Given the description of an element on the screen output the (x, y) to click on. 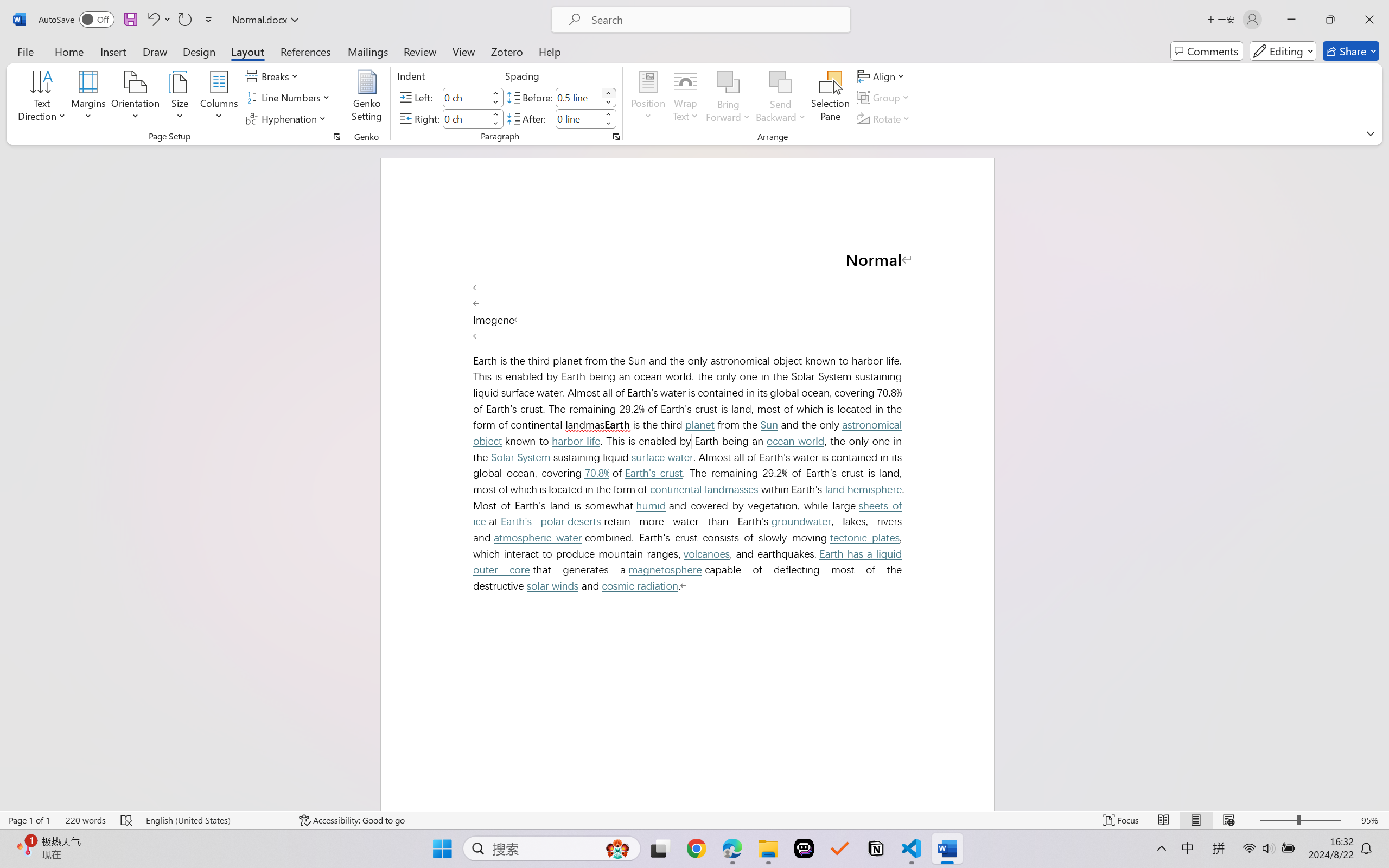
Class: NetUIScrollBar (1382, 477)
More (608, 113)
Class: MsoCommandBar (694, 819)
Bring Forward (728, 81)
Earth's crust (653, 473)
Indent Right (465, 118)
Sun (769, 424)
Rotate (884, 118)
Page 1 content (687, 521)
continental (675, 489)
Hyphenation (287, 118)
